Given the description of an element on the screen output the (x, y) to click on. 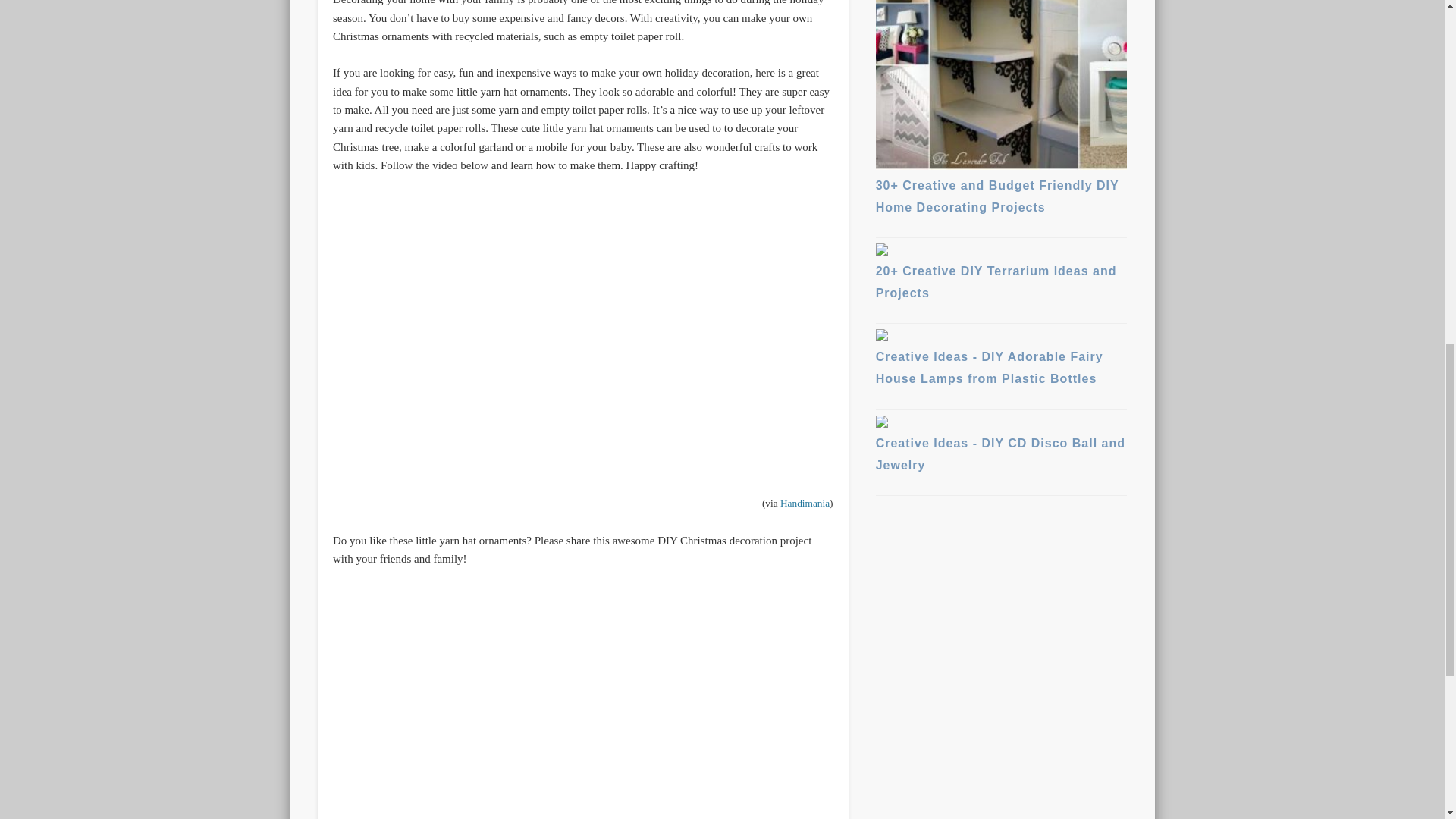
Creative Ideas - DIY CD Disco Ball and Jewelry (1001, 446)
Handimania (804, 502)
